Given the description of an element on the screen output the (x, y) to click on. 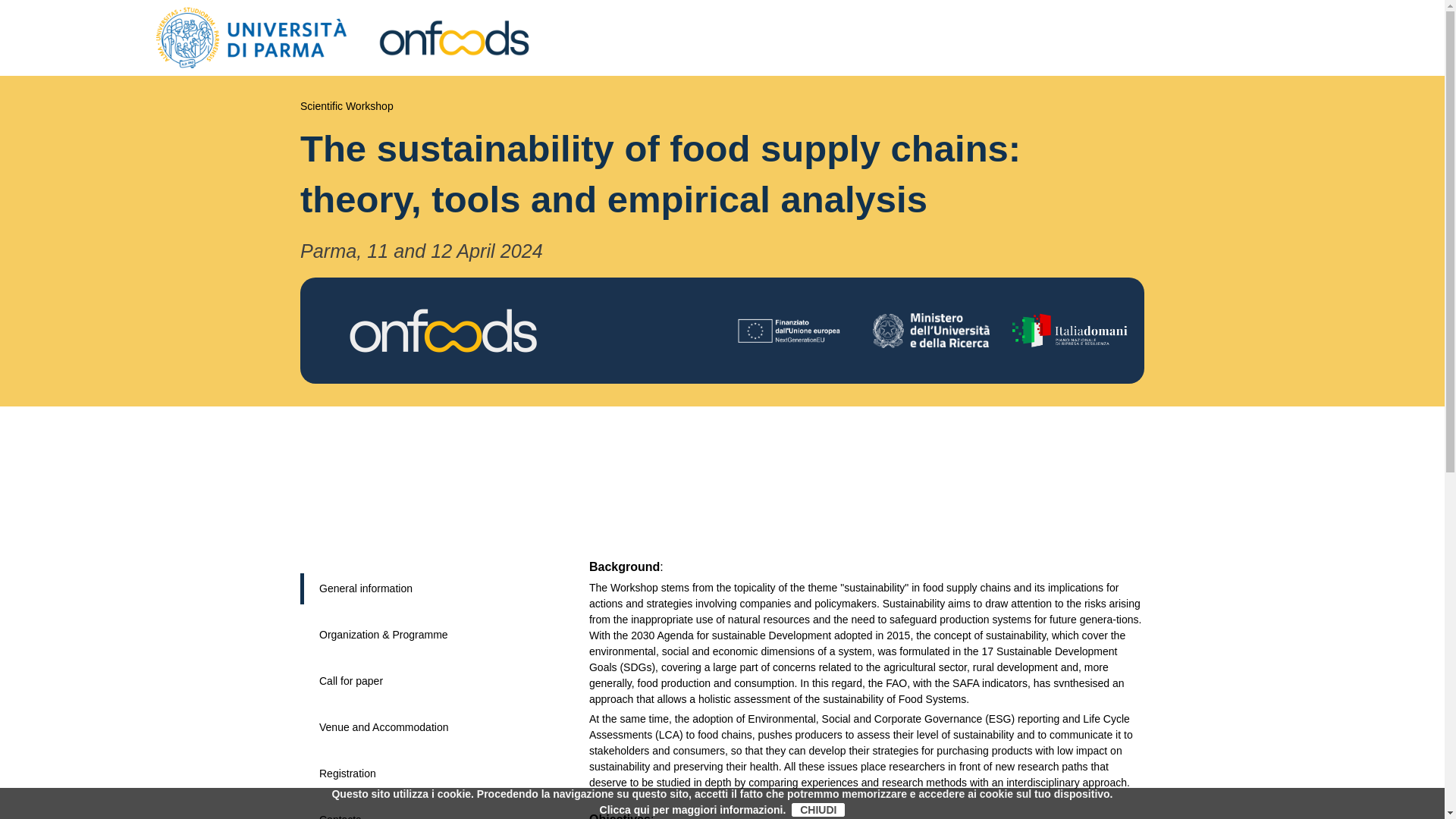
Registration (346, 773)
Contacts (339, 816)
Call for paper (350, 680)
Scientific Workshop (346, 105)
General information (365, 588)
Venue and Accommodation (383, 727)
Clicca qui per maggiori informazioni. (692, 809)
